Given the description of an element on the screen output the (x, y) to click on. 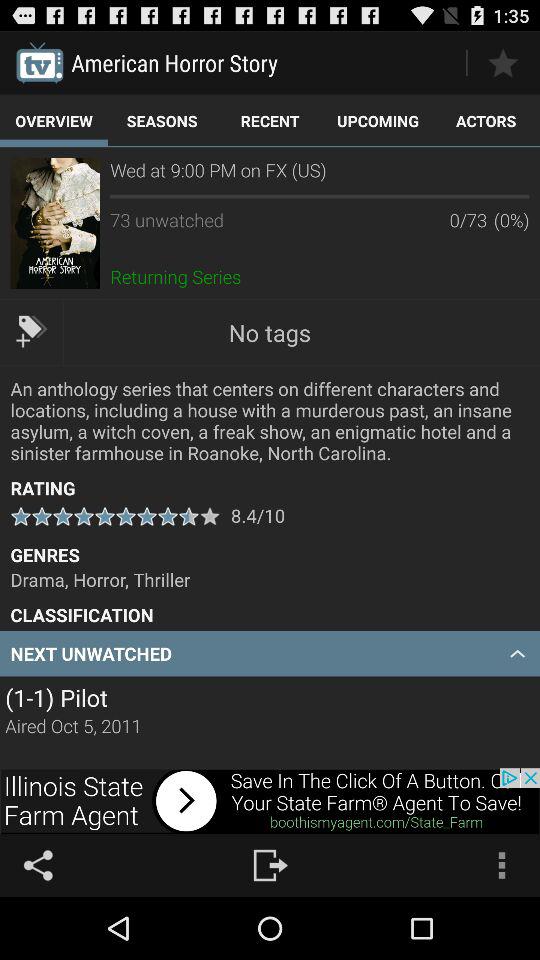
highlight (502, 62)
